Given the description of an element on the screen output the (x, y) to click on. 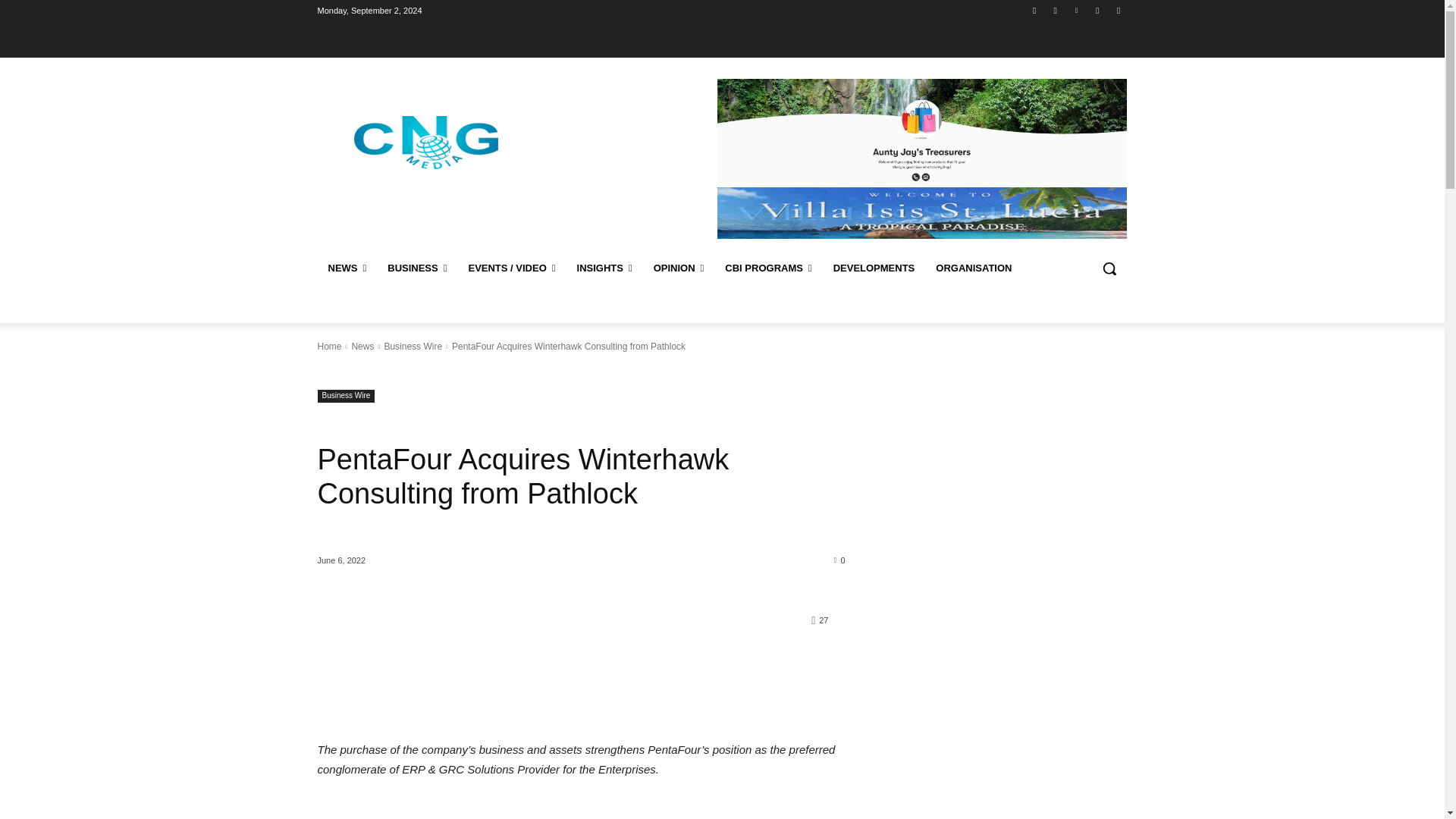
NEWS (347, 268)
Twitter (1097, 9)
Instagram (1055, 9)
Youtube (1117, 9)
Linkedin (1075, 9)
Facebook (1034, 9)
